Given the description of an element on the screen output the (x, y) to click on. 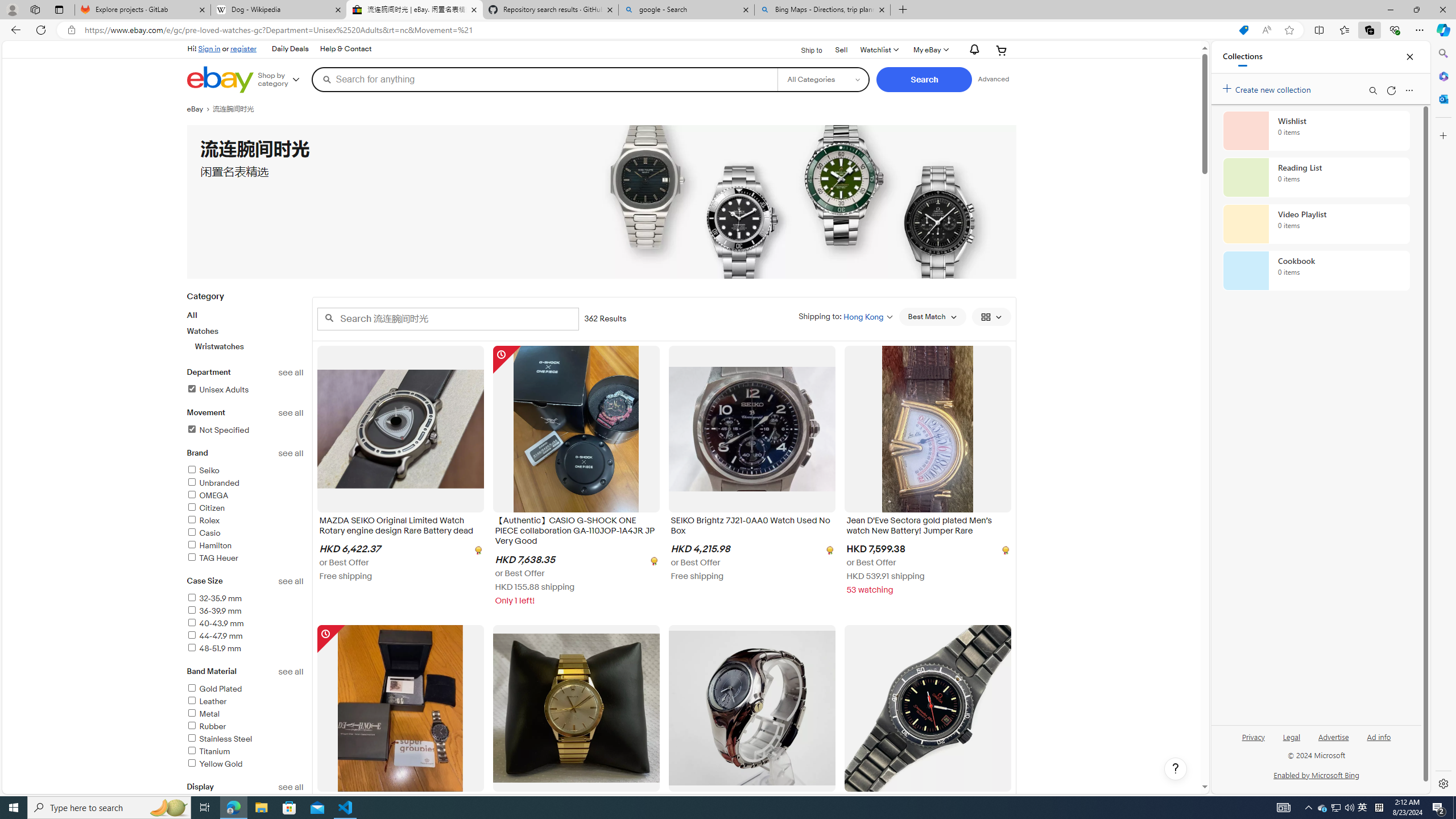
Rolex (245, 520)
AutomationID: gh-eb-Alerts (972, 49)
Yellow Gold (214, 764)
Reading List collection, 0 items (1316, 177)
36-39.9 mm (213, 610)
Seiko (245, 471)
Movementsee allNot SpecifiedFilter Applied (245, 427)
Seiko (202, 470)
OMEGA (207, 495)
SEIKO Brightz 7J21-0AA0 Watch Used No Box (751, 527)
